Given the description of an element on the screen output the (x, y) to click on. 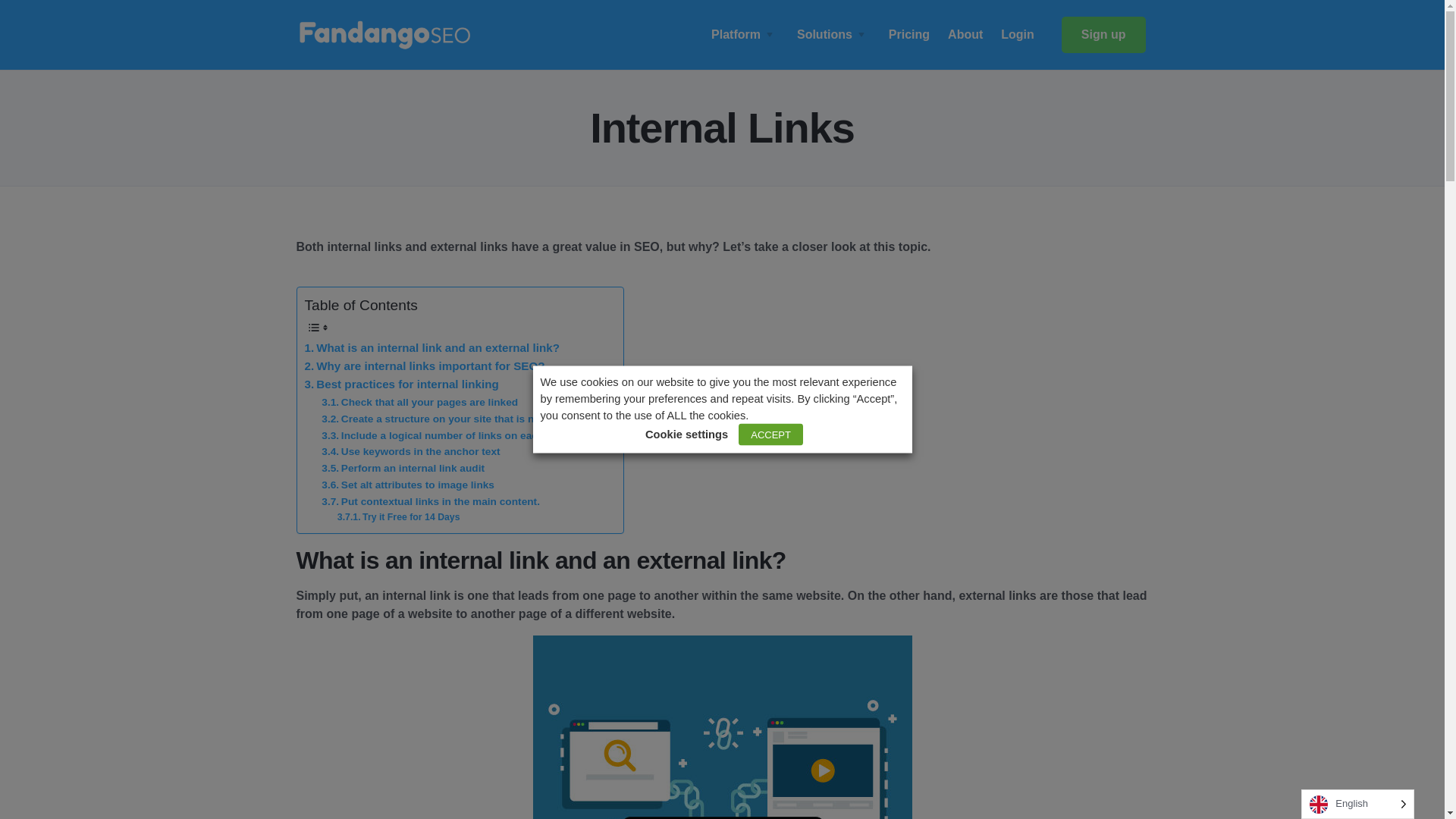
About (965, 34)
Solutions (833, 34)
Set alt attributes to image links (408, 484)
Sign up (1103, 34)
Best practices for internal linking (401, 384)
Put contextual links in the main content. (430, 501)
Login (1017, 34)
Create a structure on your site that is not too complex (464, 419)
Use keywords in the anchor text (410, 451)
What is an internal link and an external link? (431, 348)
Platform (744, 34)
Try it Free for 14 Days (398, 517)
Solutions (833, 34)
Perform an internal link audit (402, 468)
Platform (744, 34)
